Given the description of an element on the screen output the (x, y) to click on. 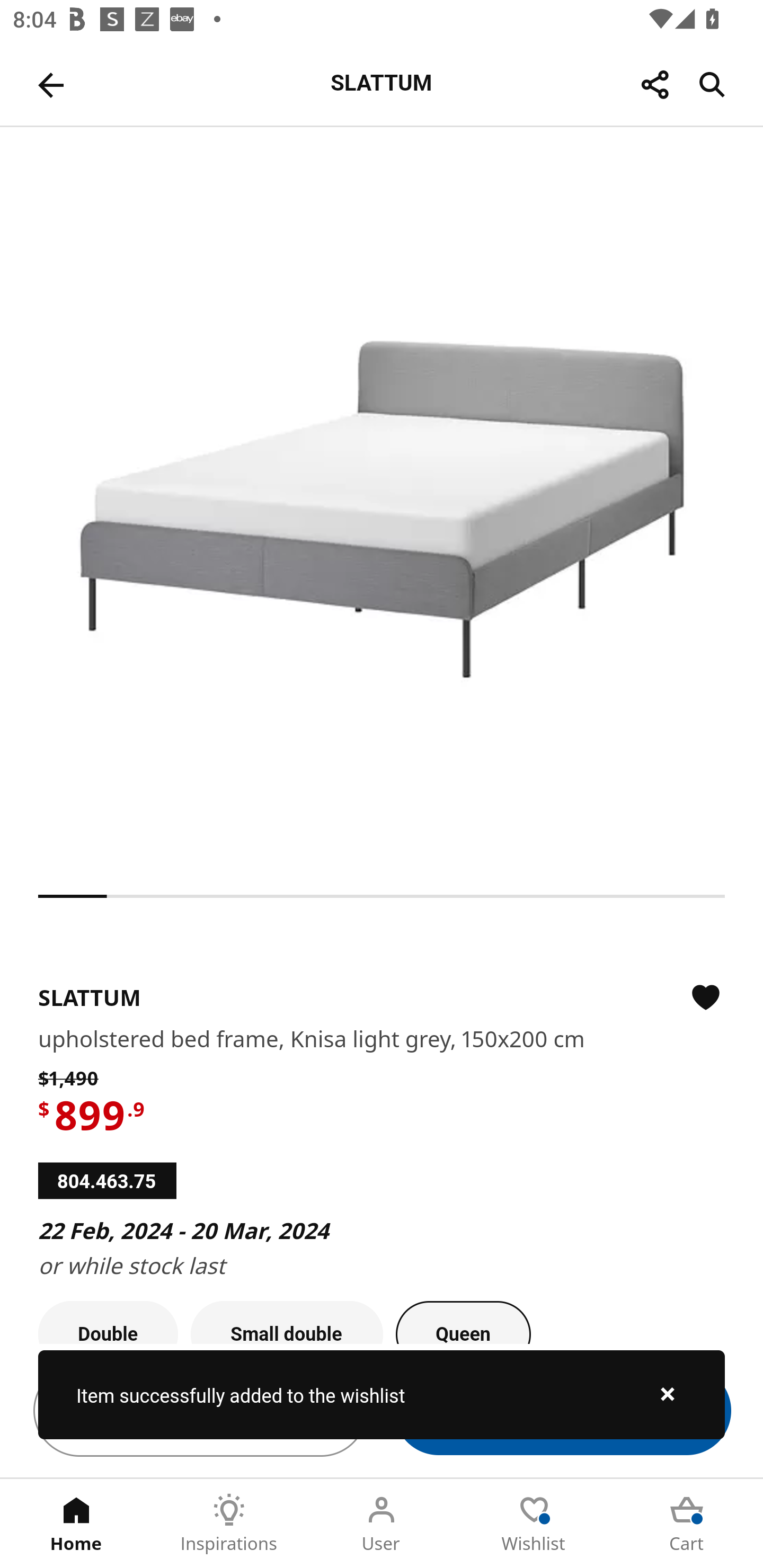
Double (107, 1322)
Small double (286, 1322)
Queen (463, 1322)
Item successfully added to the wishlist (381, 1394)
Home
Tab 1 of 5 (76, 1522)
Inspirations
Tab 2 of 5 (228, 1522)
User
Tab 3 of 5 (381, 1522)
Wishlist
Tab 4 of 5 (533, 1522)
Cart
Tab 5 of 5 (686, 1522)
